Given the description of an element on the screen output the (x, y) to click on. 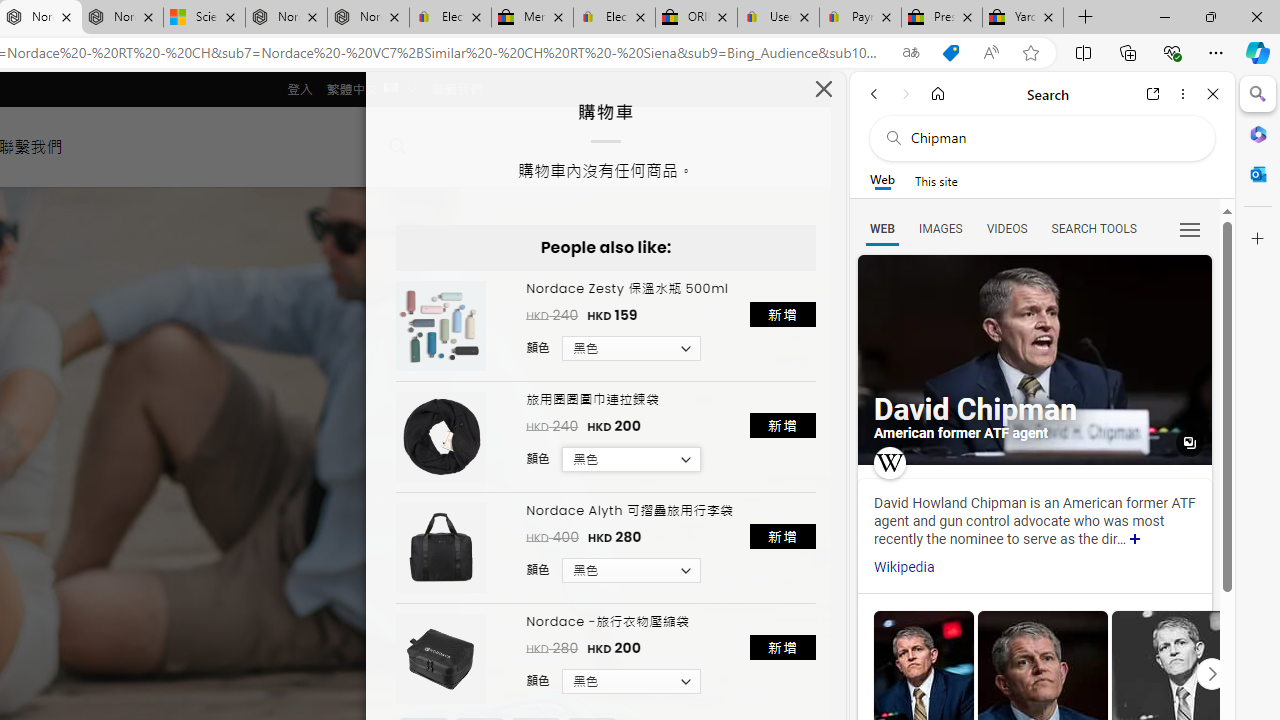
Search Filter, IMAGES (939, 228)
This site has coupons! Shopping in Microsoft Edge (950, 53)
WEB   (882, 228)
Class: b_serphb (1190, 229)
All images (1190, 443)
Search Filter, WEB (882, 228)
